Given the description of an element on the screen output the (x, y) to click on. 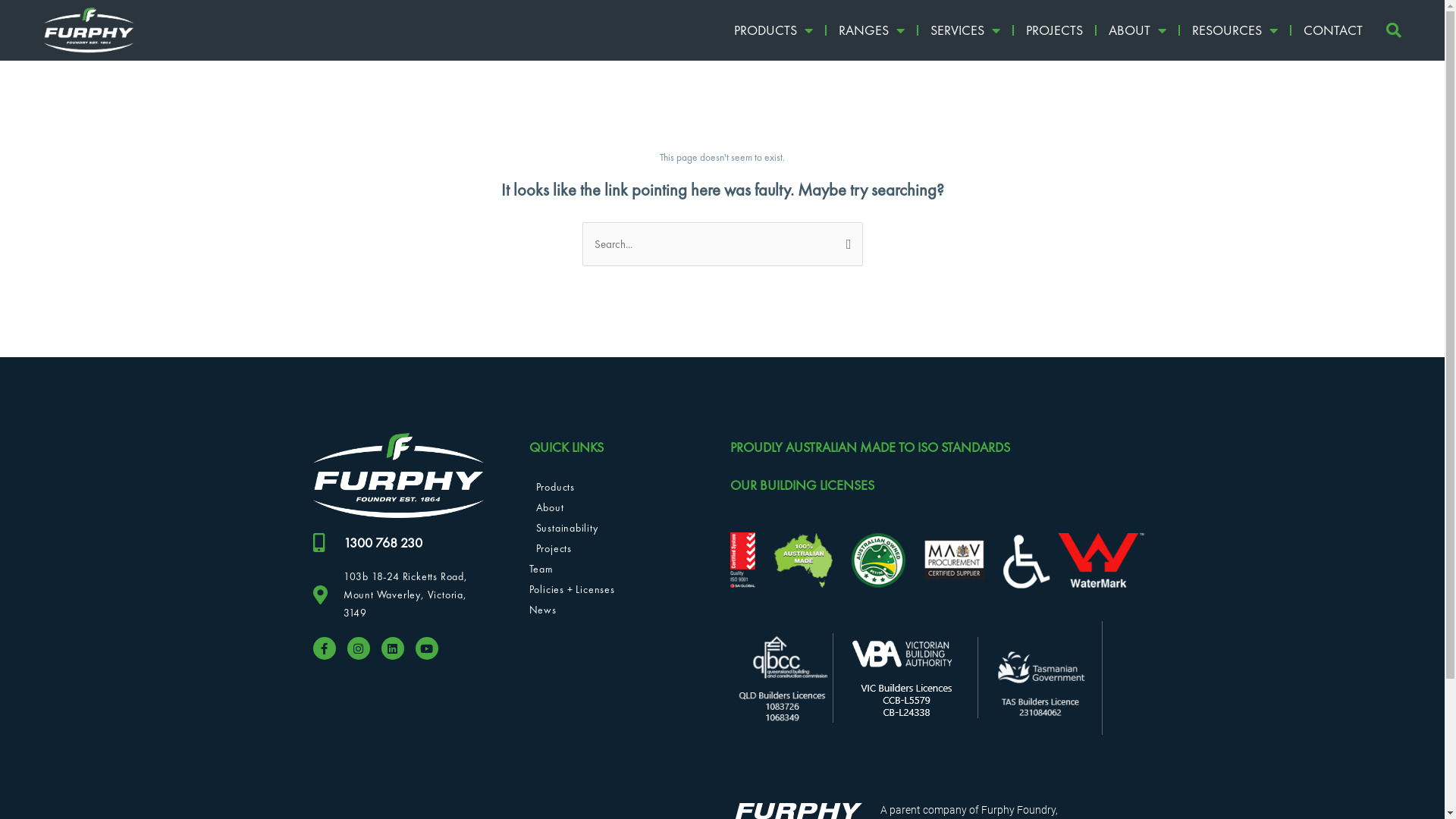
Youtube Element type: text (426, 648)
1300 768 230 Element type: text (397, 542)
News Element type: text (614, 609)
SERVICES Element type: text (965, 30)
Projects Element type: text (614, 547)
ABOUT Element type: text (1137, 30)
Facebook-f Element type: text (323, 648)
Policies + Licenses Element type: text (614, 588)
PROJECTS Element type: text (1054, 30)
Instagram Element type: text (358, 648)
CONTACT Element type: text (1332, 30)
About Element type: text (614, 506)
Sustainability Element type: text (614, 527)
103b 18-24 Ricketts Road, Mount Waverley, Victoria, 3149 Element type: text (397, 594)
Team Element type: text (614, 568)
Products Element type: text (614, 486)
Linkedin Element type: text (391, 648)
RANGES Element type: text (871, 30)
Search Element type: text (845, 241)
PRODUCTS Element type: text (773, 30)
RESOURCES Element type: text (1234, 30)
